Given the description of an element on the screen output the (x, y) to click on. 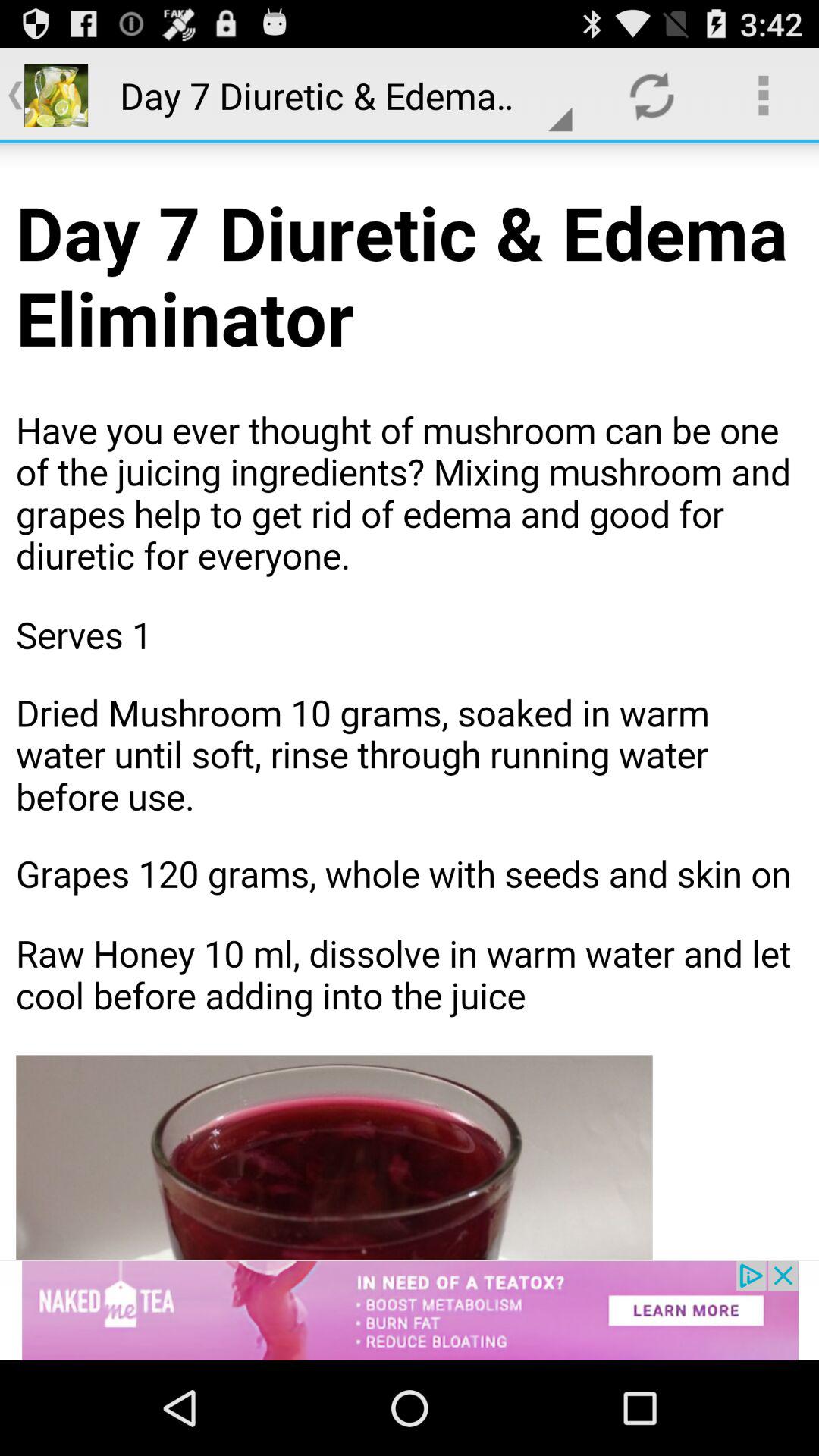
select advertisement (409, 1310)
